Given the description of an element on the screen output the (x, y) to click on. 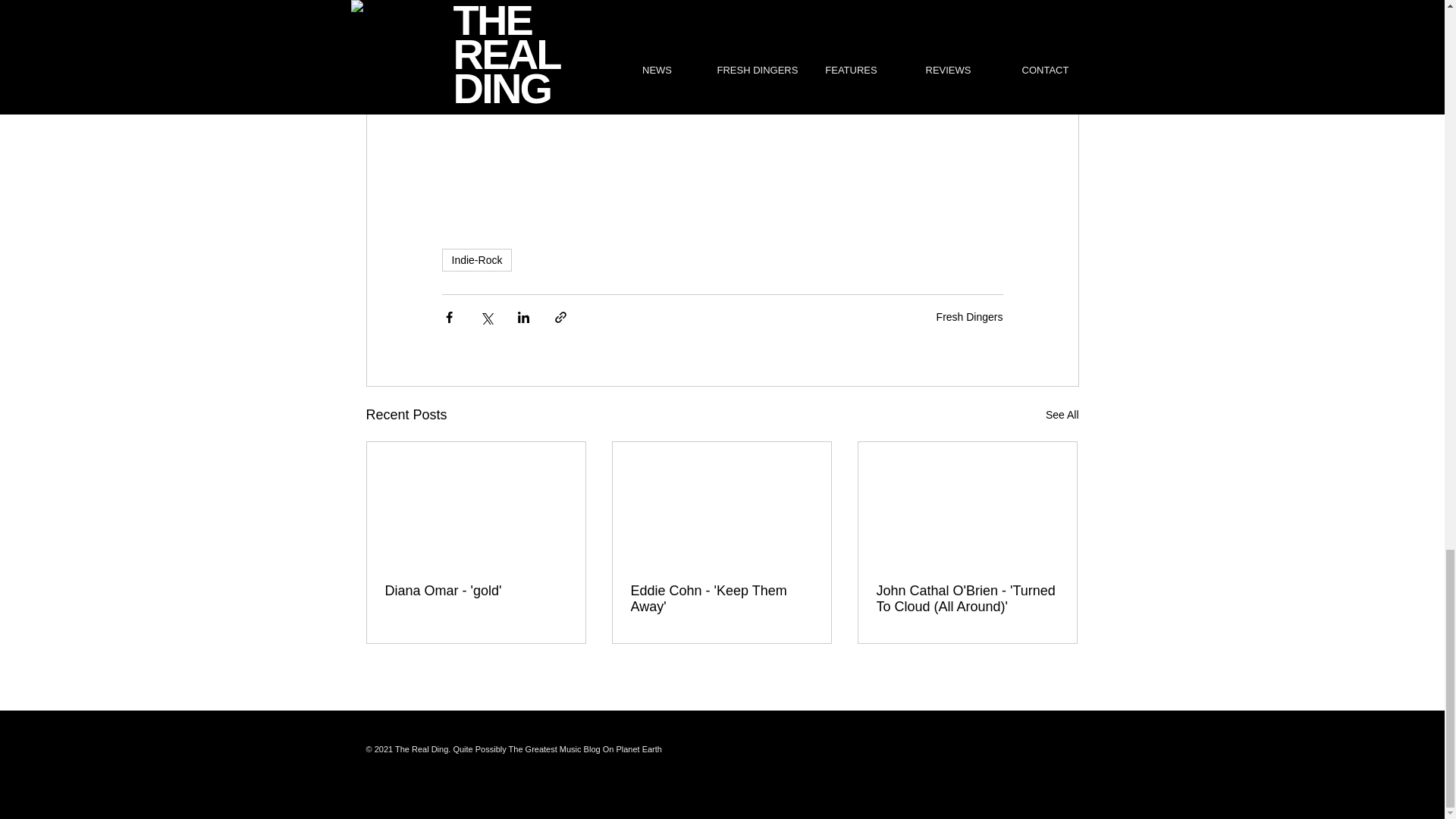
Diana Omar - 'gold' (476, 590)
See All (1061, 414)
Eddie Cohn - 'Keep Them Away' (721, 599)
Fresh Dingers (969, 316)
Indie-Rock (476, 259)
